Given the description of an element on the screen output the (x, y) to click on. 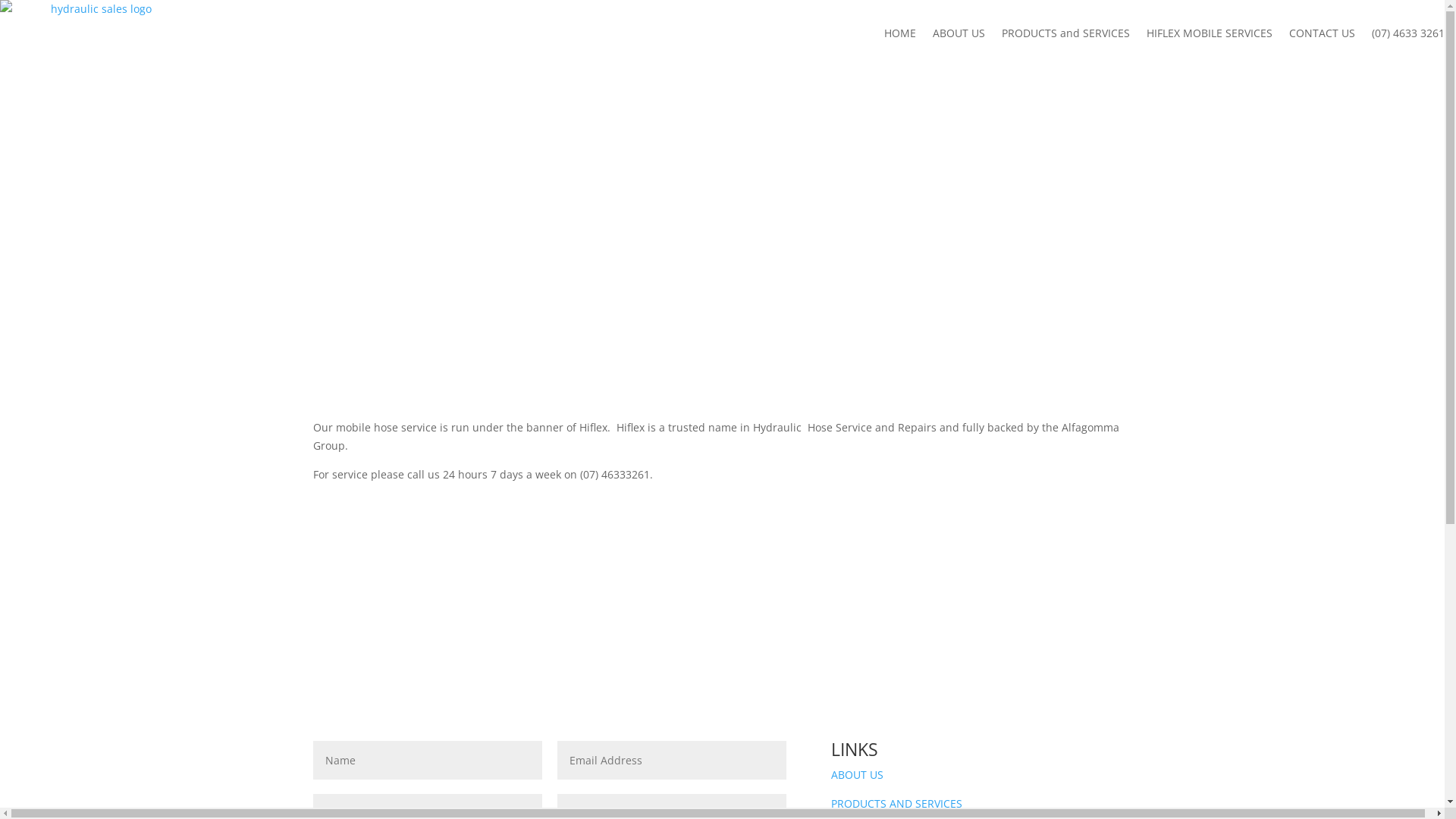
PRODUCTS AND SERVICES Element type: text (896, 803)
PRODUCTS and SERVICES Element type: text (1065, 33)
ABOUT US Element type: text (958, 33)
CLICK HERE TO GO TO HIFLEX'S WEBSITE Element type: text (722, 524)
HIFLEX MOBILE SERVICES Element type: text (1209, 33)
ABOUT US Element type: text (857, 774)
(07) 4633 3261 Element type: text (1407, 33)
HOME Element type: text (900, 33)
CONTACT US Element type: text (1322, 33)
